Given the description of an element on the screen output the (x, y) to click on. 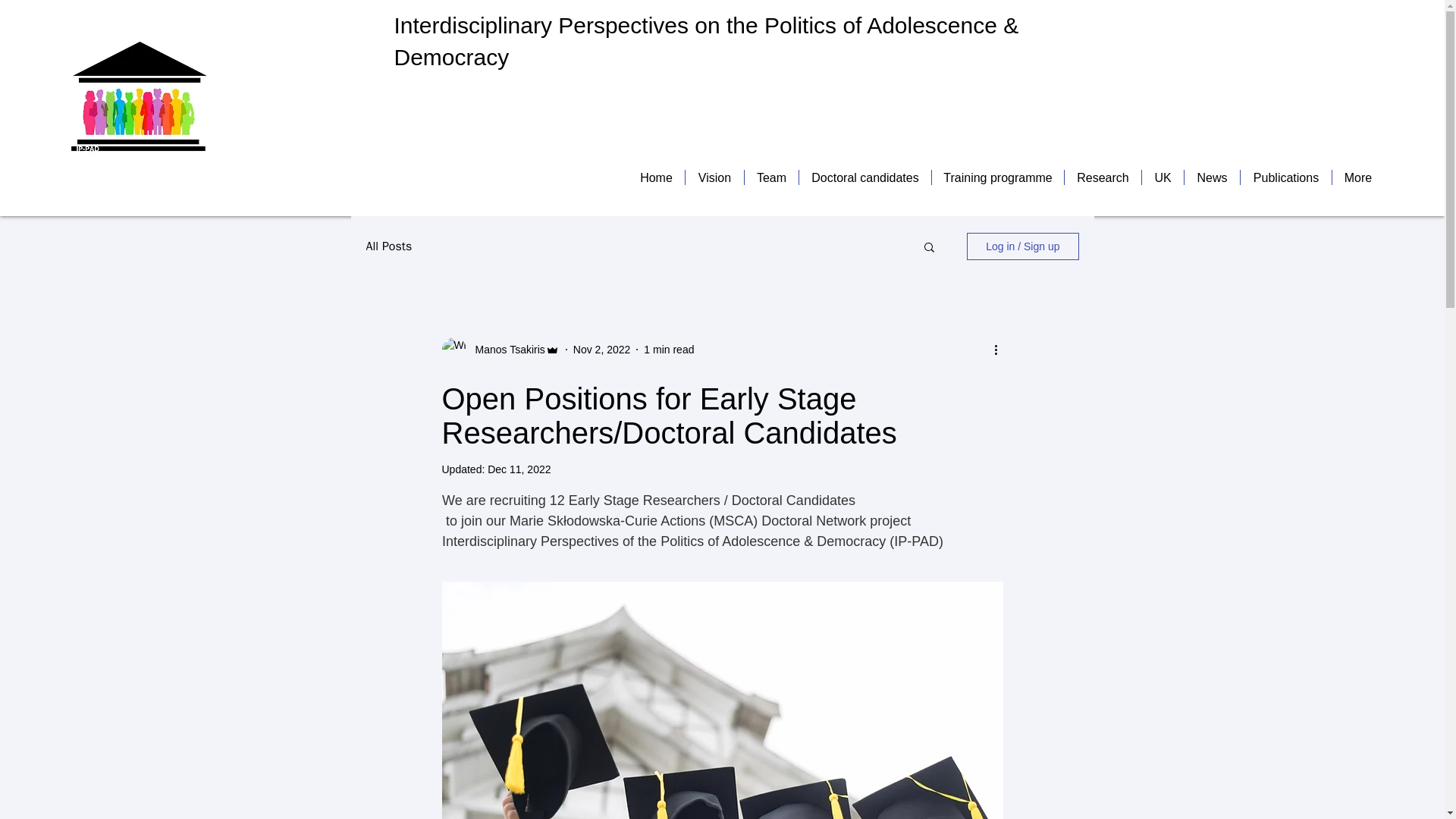
Home (655, 177)
Manos Tsakiris (504, 349)
All Posts (388, 245)
Doctoral candidates (865, 177)
Publications (1286, 177)
UK (1162, 177)
1 min read (668, 348)
News (1212, 177)
Vision (714, 177)
Training programme (997, 177)
Dec 11, 2022 (518, 469)
Research (1102, 177)
Nov 2, 2022 (601, 348)
